Given the description of an element on the screen output the (x, y) to click on. 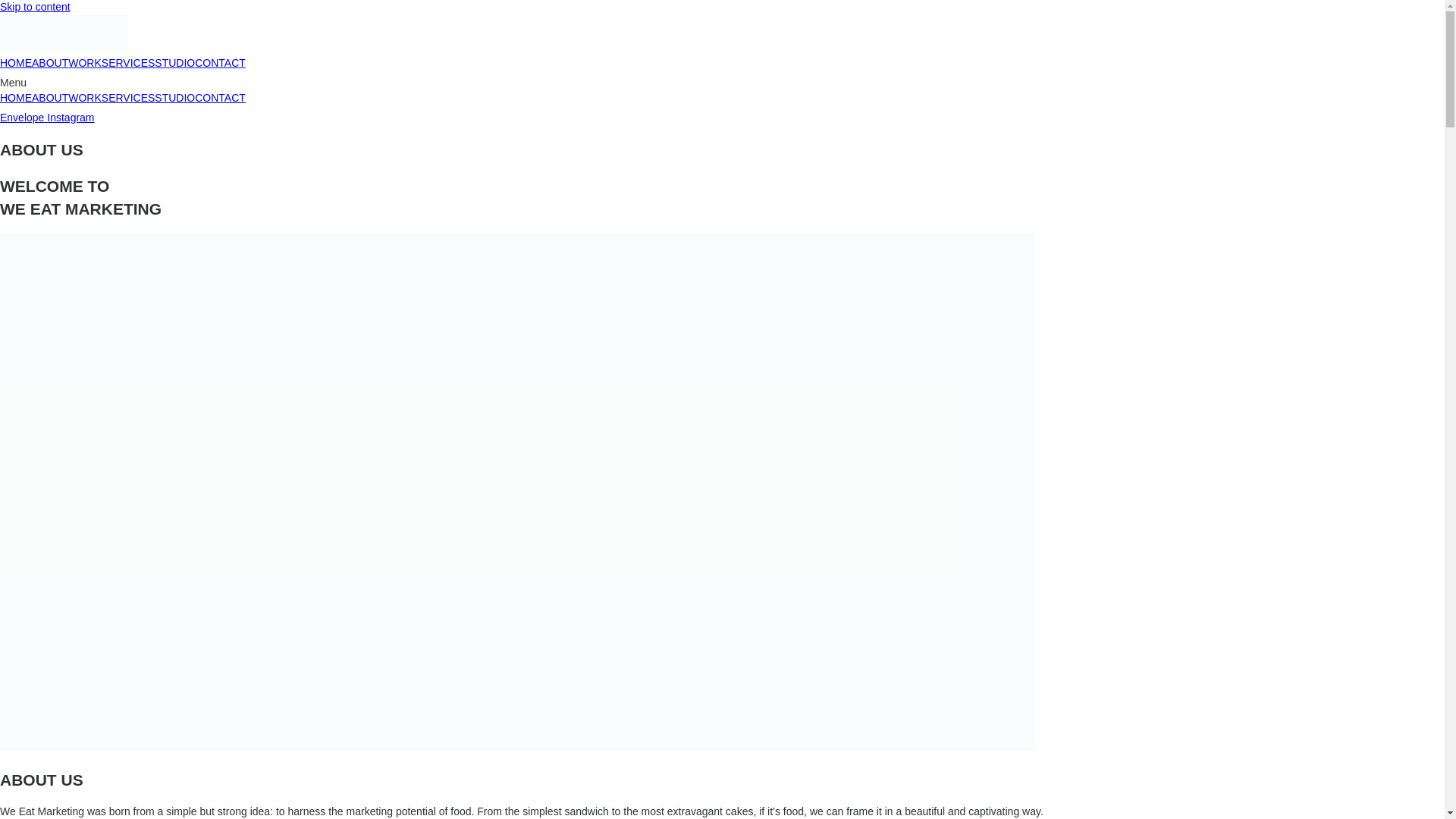
WORK (84, 97)
Envelope (23, 117)
CONTACT (220, 62)
SERVICES (128, 62)
CONTACT (220, 97)
09827DBA-409D-4F46-BD51-6EA196C09A57 (64, 33)
ABOUT (50, 97)
STUDIO (174, 97)
HOME (16, 97)
SERVICES (128, 97)
